Given the description of an element on the screen output the (x, y) to click on. 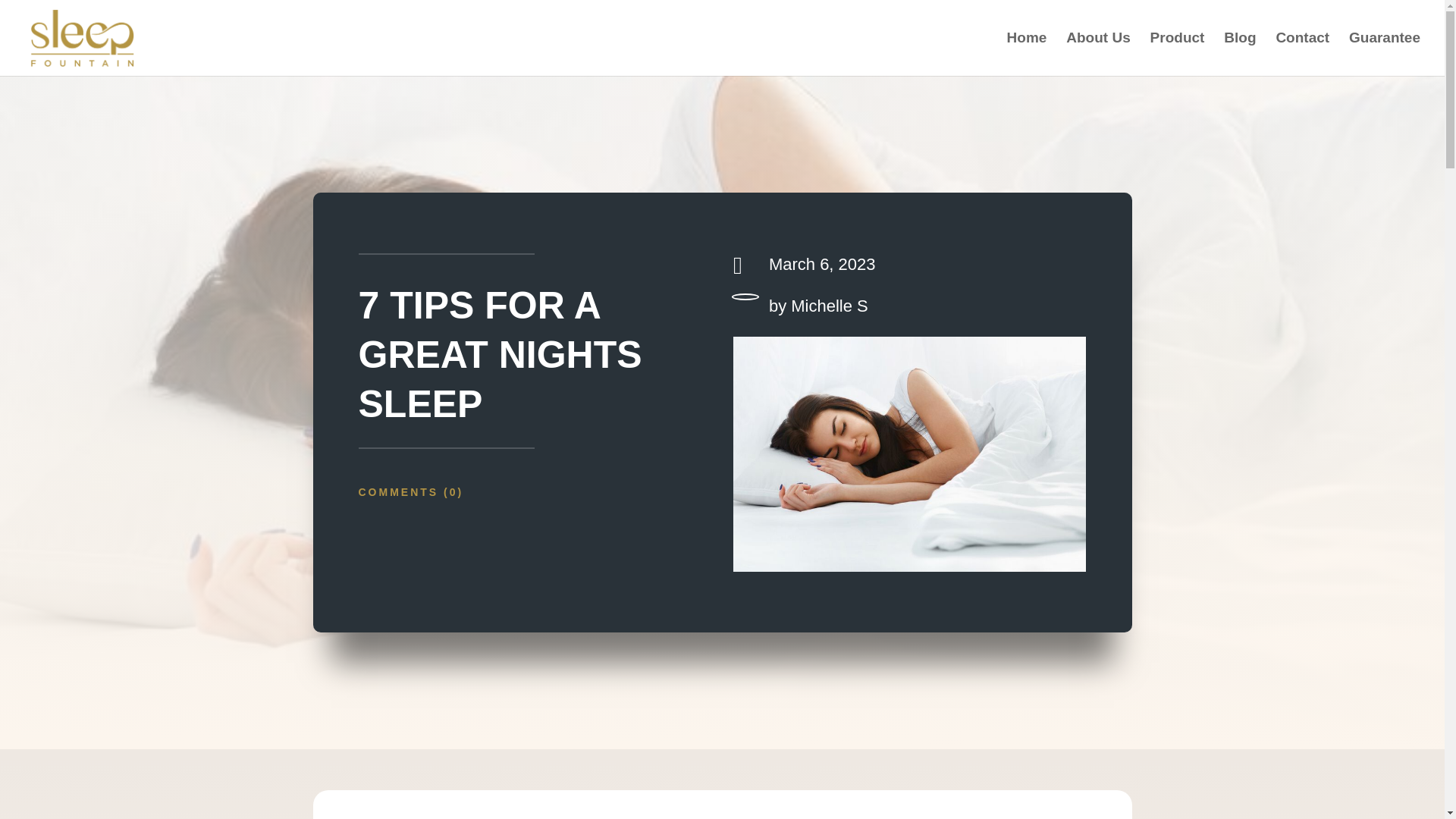
Blog (1239, 54)
About Us (1097, 54)
Girl-sleeping (909, 453)
Product (1177, 54)
Guarantee (1385, 54)
Contact (1302, 54)
Home (1026, 54)
Michelle S (828, 305)
